Given the description of an element on the screen output the (x, y) to click on. 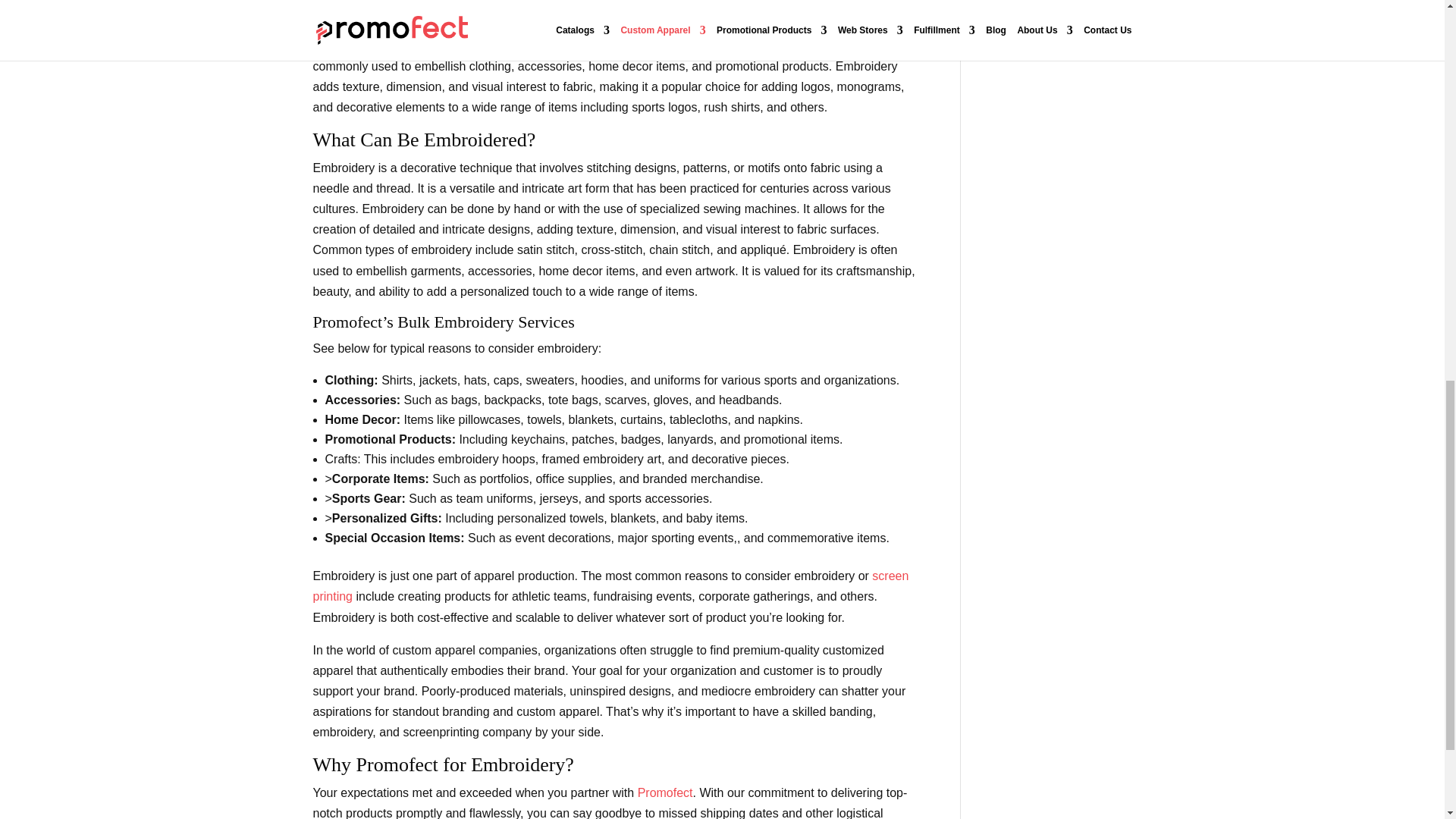
local embroidery and screen printing (610, 585)
screen printing (610, 585)
Promofect (665, 792)
